Given the description of an element on the screen output the (x, y) to click on. 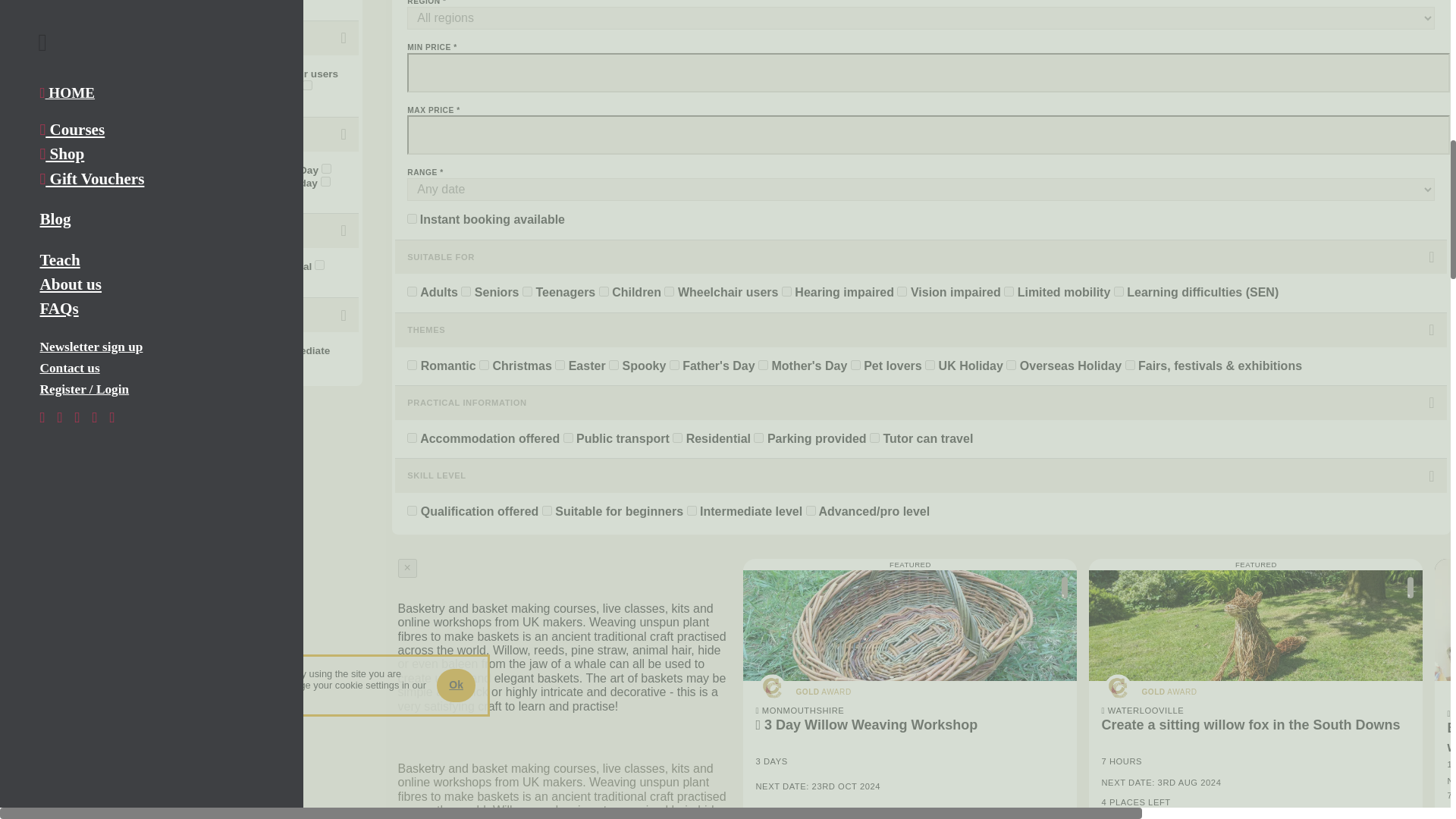
25 (21, 85)
THEMES (181, 134)
SUITABLE FOR (181, 38)
6 (121, 71)
22 (67, 71)
1 (21, 2)
3 (245, 71)
SKILL LEVEL (181, 315)
24 (120, 85)
5 (187, 71)
21 (21, 71)
PRACTICAL INFORMATION (181, 230)
23 (212, 85)
